Given the description of an element on the screen output the (x, y) to click on. 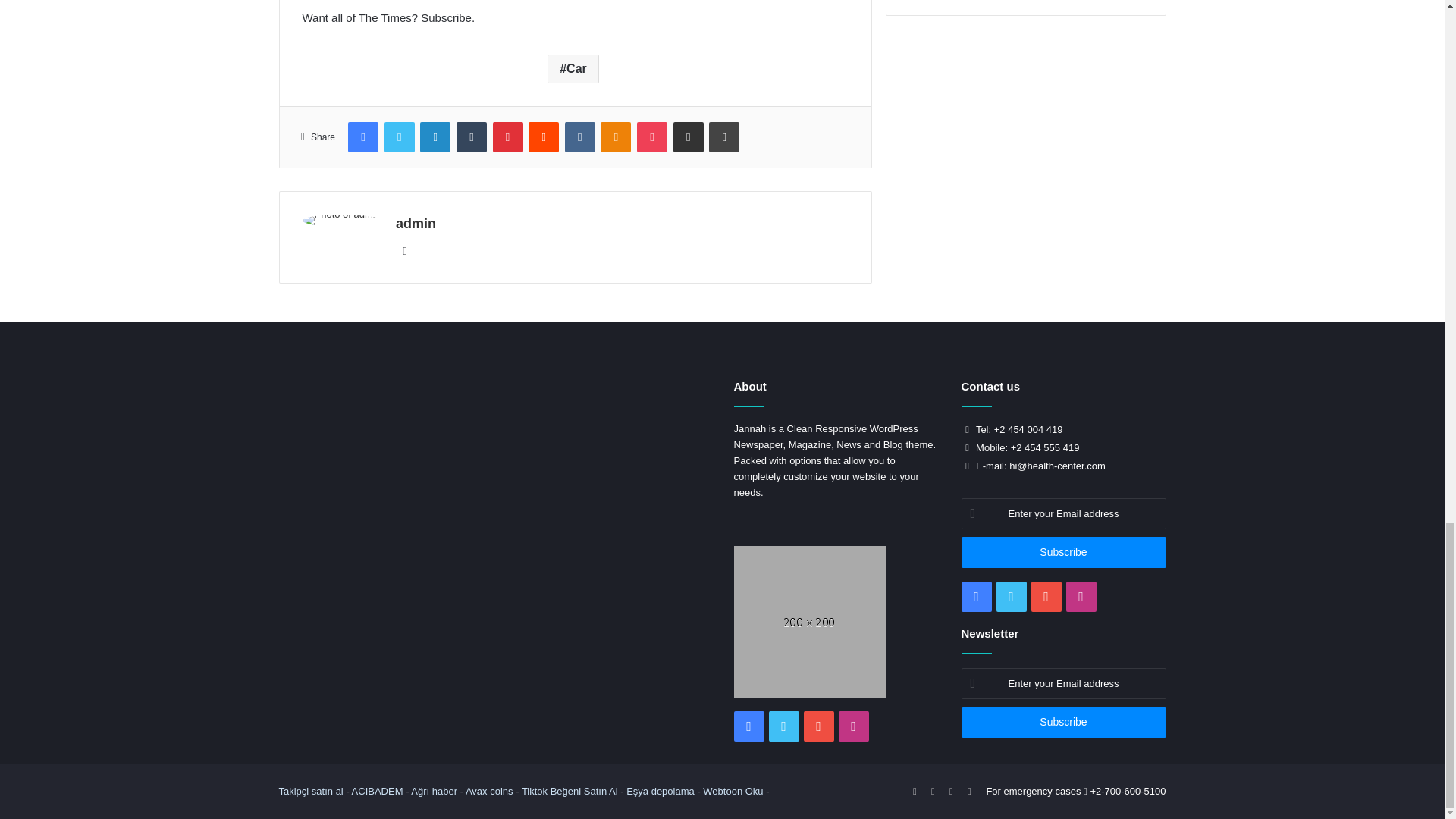
Subscribe (1063, 721)
Car (572, 68)
Subscribe (1063, 552)
